Given the description of an element on the screen output the (x, y) to click on. 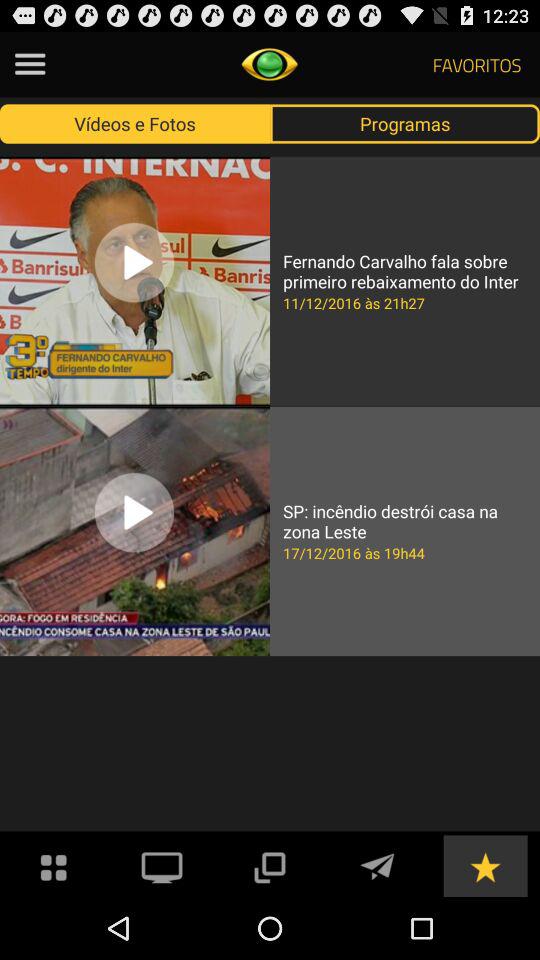
telegram app icon (377, 865)
